Given the description of an element on the screen output the (x, y) to click on. 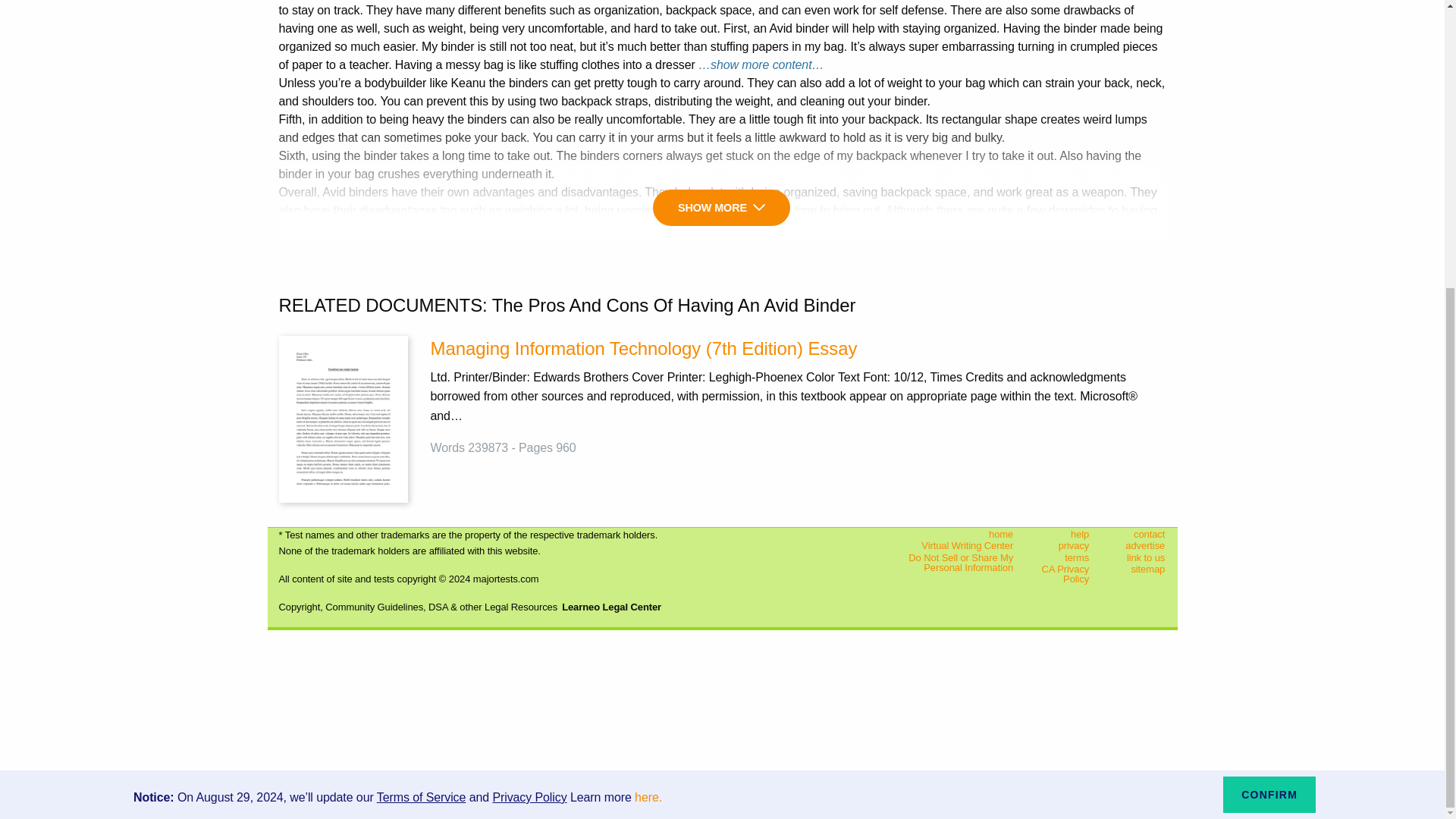
here. (648, 359)
sitemap (1139, 569)
Virtual Writing Center (949, 545)
Terms of Service (421, 359)
terms (1063, 557)
Privacy Policy (529, 359)
privacy (1063, 545)
help (1063, 533)
CA Privacy Policy (1063, 574)
Do Not Sell or Share My Personal Information (949, 562)
